Given the description of an element on the screen output the (x, y) to click on. 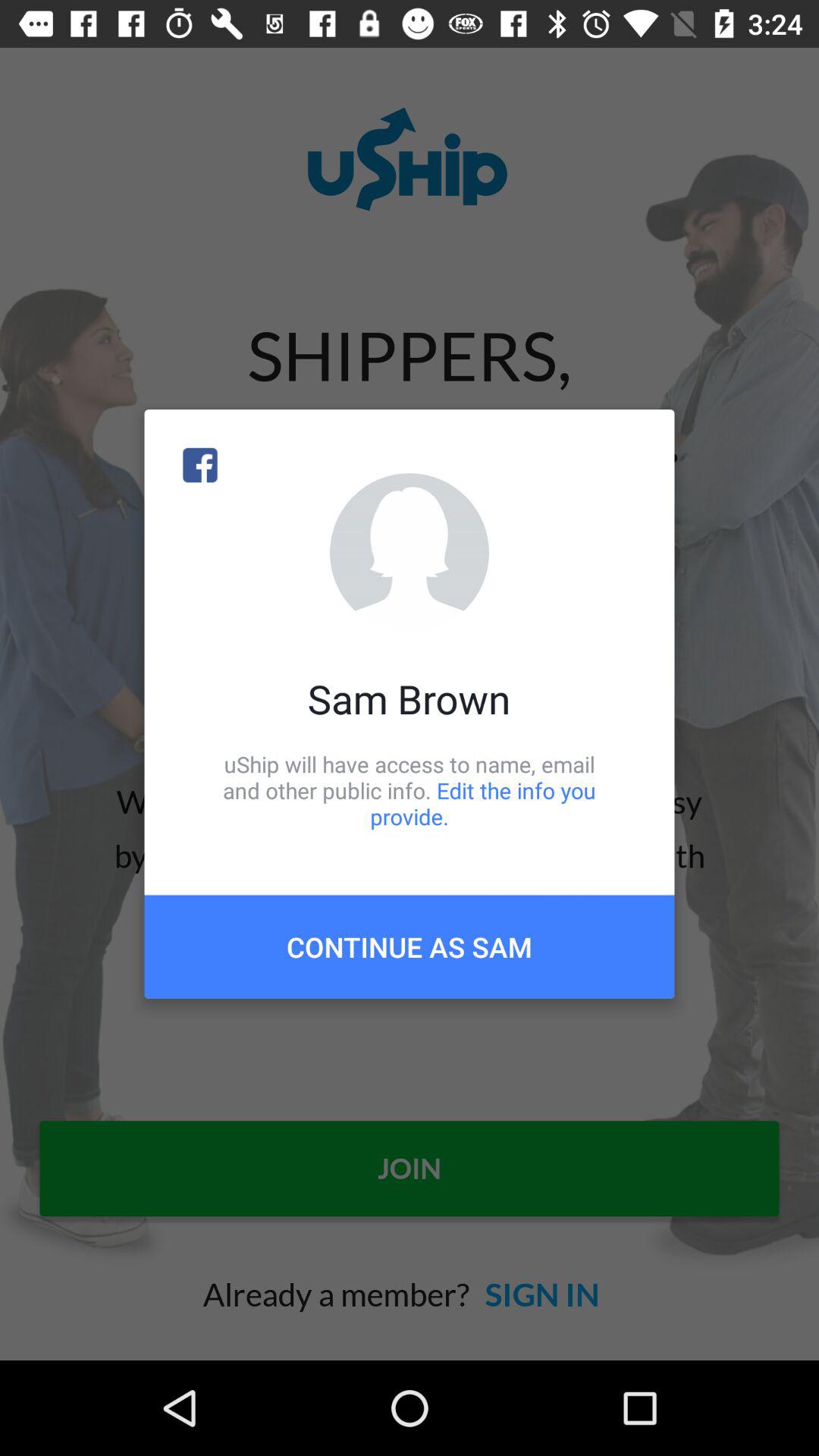
launch the uship will have (409, 790)
